Given the description of an element on the screen output the (x, y) to click on. 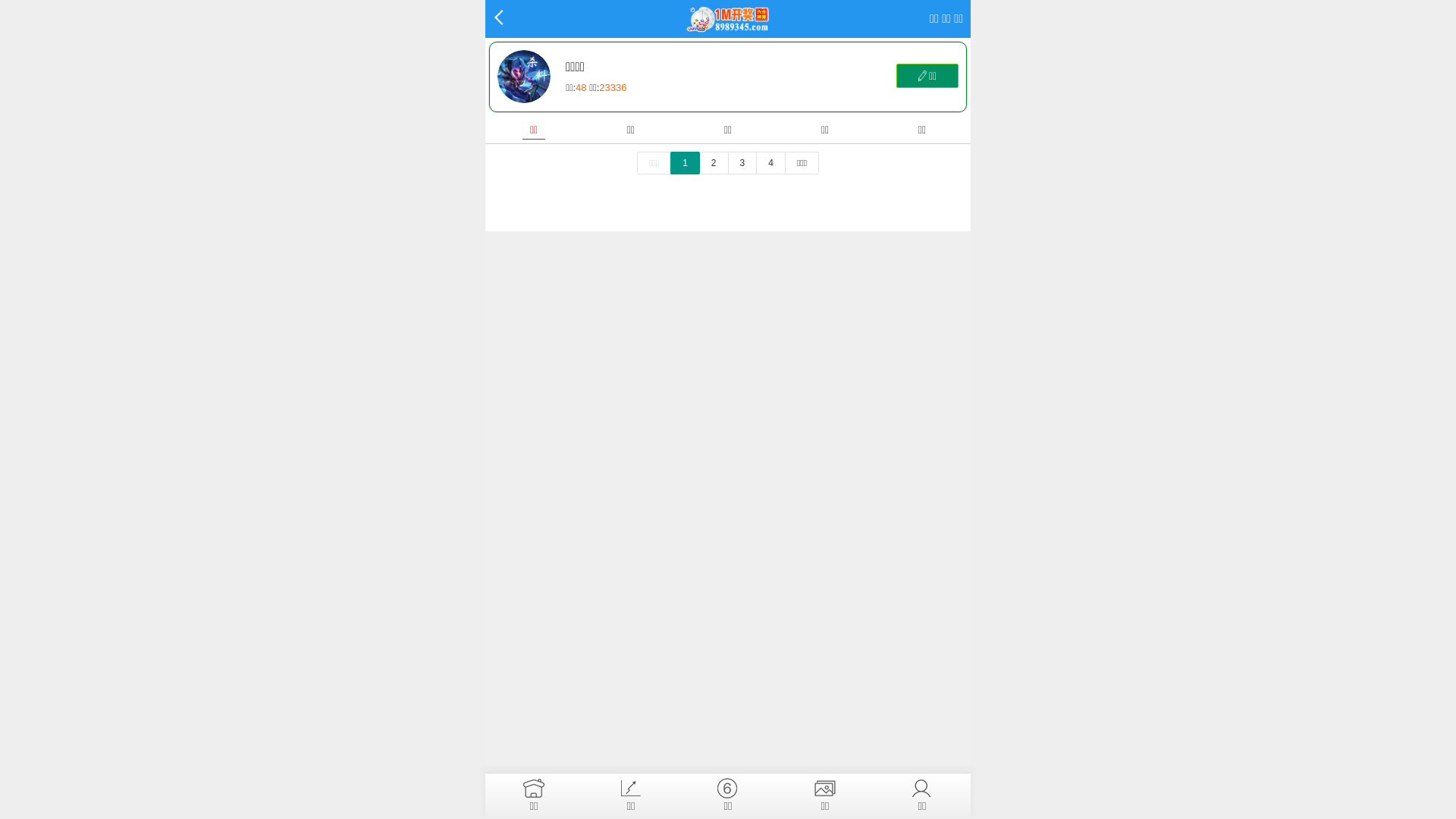
3 Element type: text (742, 162)
4 Element type: text (770, 162)
2 Element type: text (713, 162)
